Given the description of an element on the screen output the (x, y) to click on. 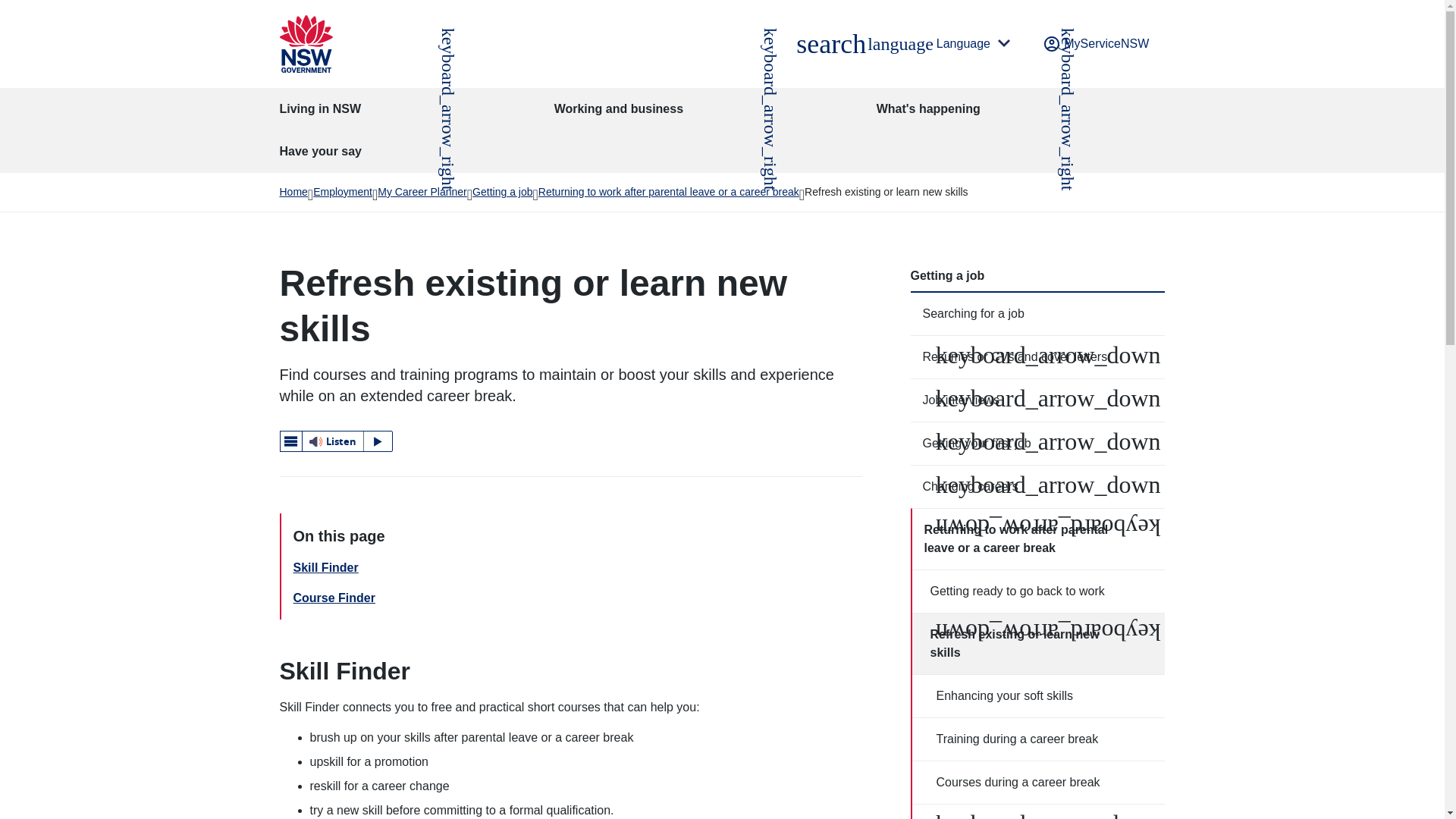
Listen to this page using ReadSpeaker webReader (830, 43)
webReader menu (336, 441)
